Given the description of an element on the screen output the (x, y) to click on. 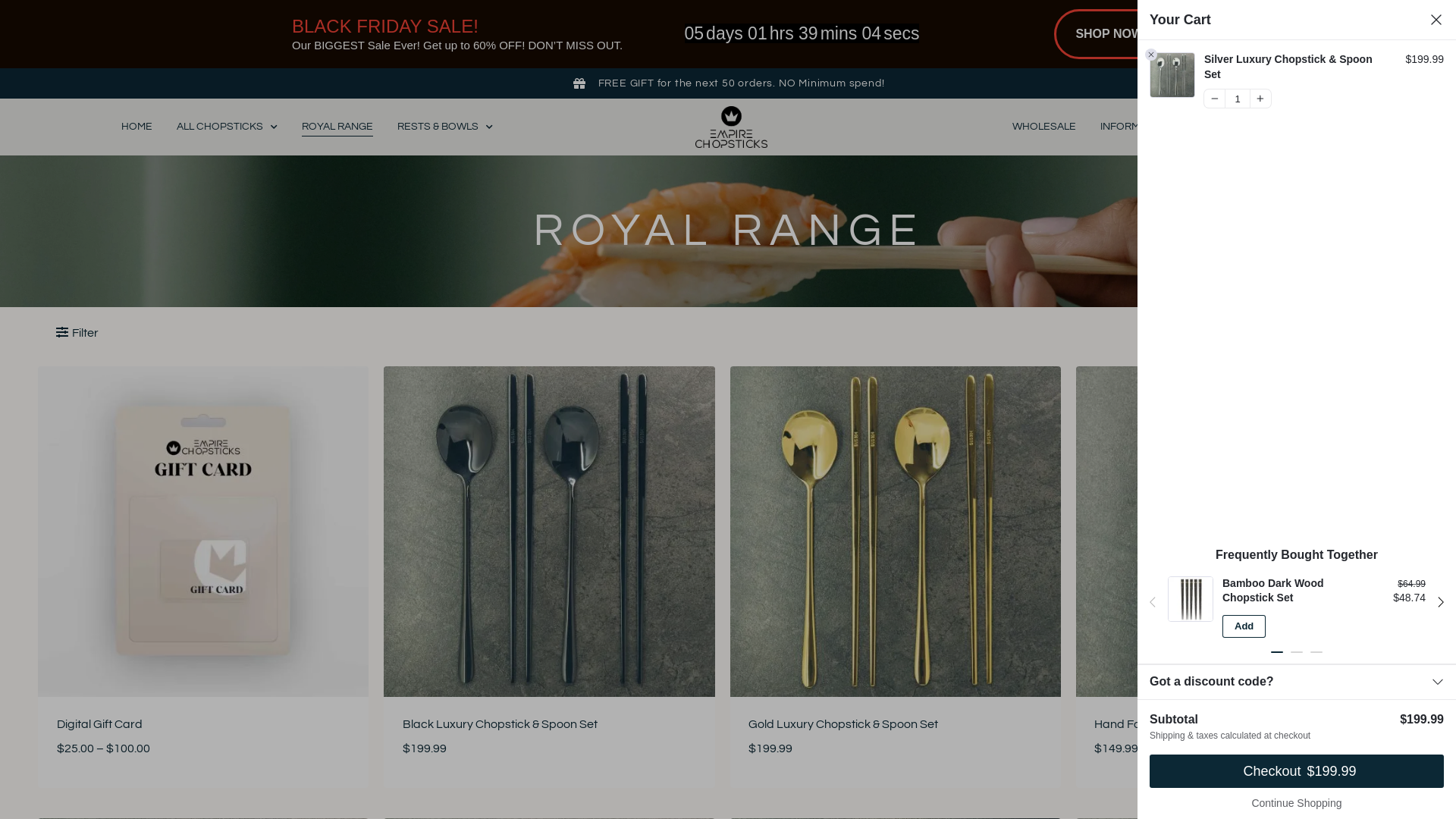
CONTACT US Element type: text (1241, 126)
Black Luxury Chopstick & Spoon Set Element type: text (499, 724)
SHOP NOW Element type: text (1109, 34)
Checkout
$199.99 Element type: text (1296, 770)
WHOLESALE Element type: text (1044, 126)
Hand Forged Brass Twisted Chopsticks Element type: text (1201, 724)
RESTS & BOWLS Element type: text (444, 126)
HOME Element type: text (136, 126)
Gold Luxury Chopstick & Spoon Set Element type: text (843, 724)
Silver Luxury Chopstick & Spoon Set Element type: text (1296, 66)
ALL CHOPSTICKS Element type: text (226, 126)
Continue Shopping Element type: text (1296, 802)
Bamboo Dark Wood Chopstick Set Element type: text (1293, 590)
Digital Gift Card Element type: text (98, 724)
ROYAL RANGE Element type: text (337, 126)
Filter Element type: text (76, 332)
INFORMATION Element type: text (1142, 126)
